Given the description of an element on the screen output the (x, y) to click on. 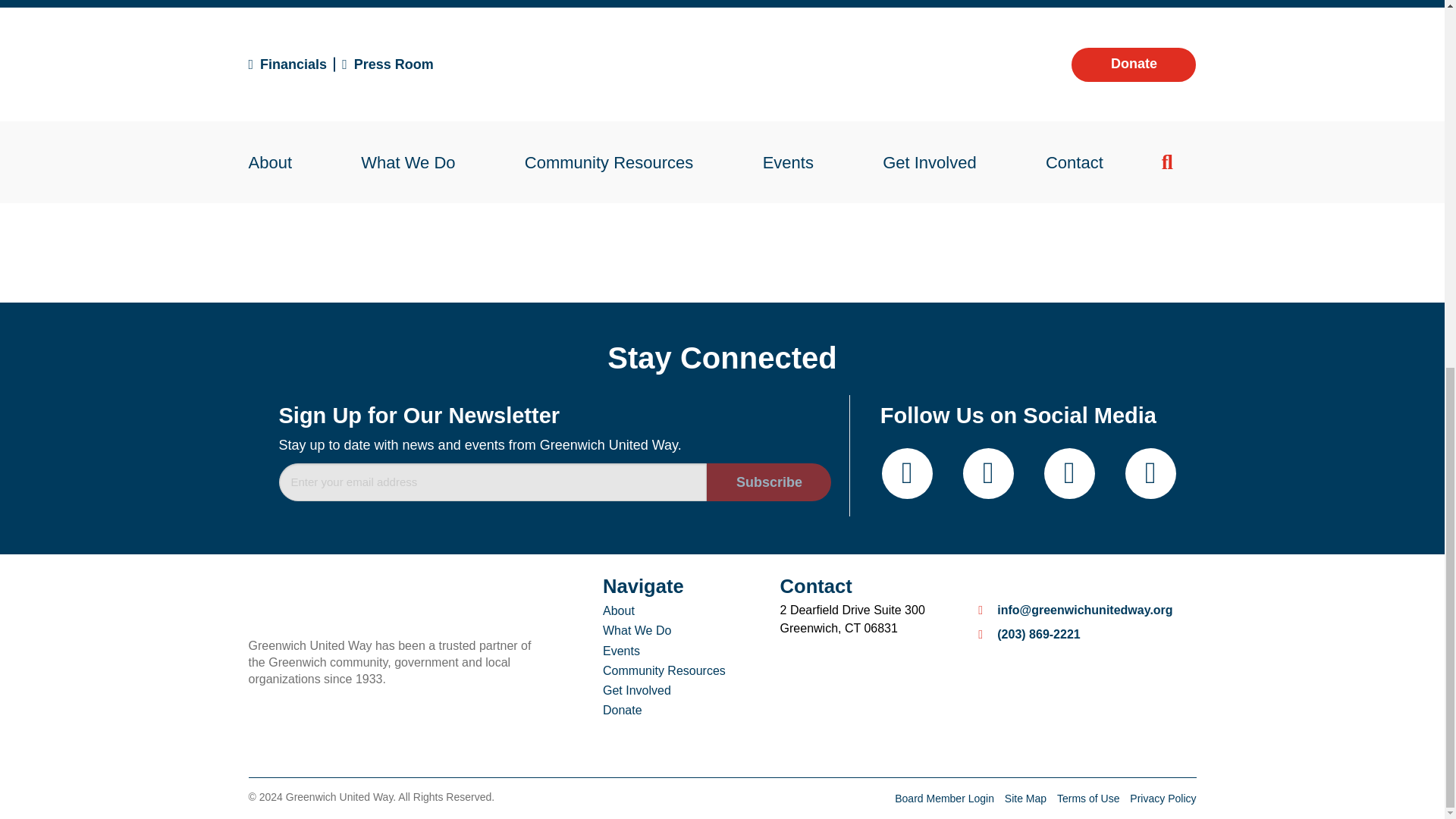
Donate (664, 710)
Get Involved (664, 690)
Privacy Policy (1162, 798)
Board Member Login (946, 798)
Terms of Use (1089, 798)
Subscribe (768, 482)
Community Resources (664, 670)
Greenwich United Way (397, 599)
Events (664, 650)
Site Map (1026, 798)
About (664, 610)
What We Do (664, 630)
